Given the description of an element on the screen output the (x, y) to click on. 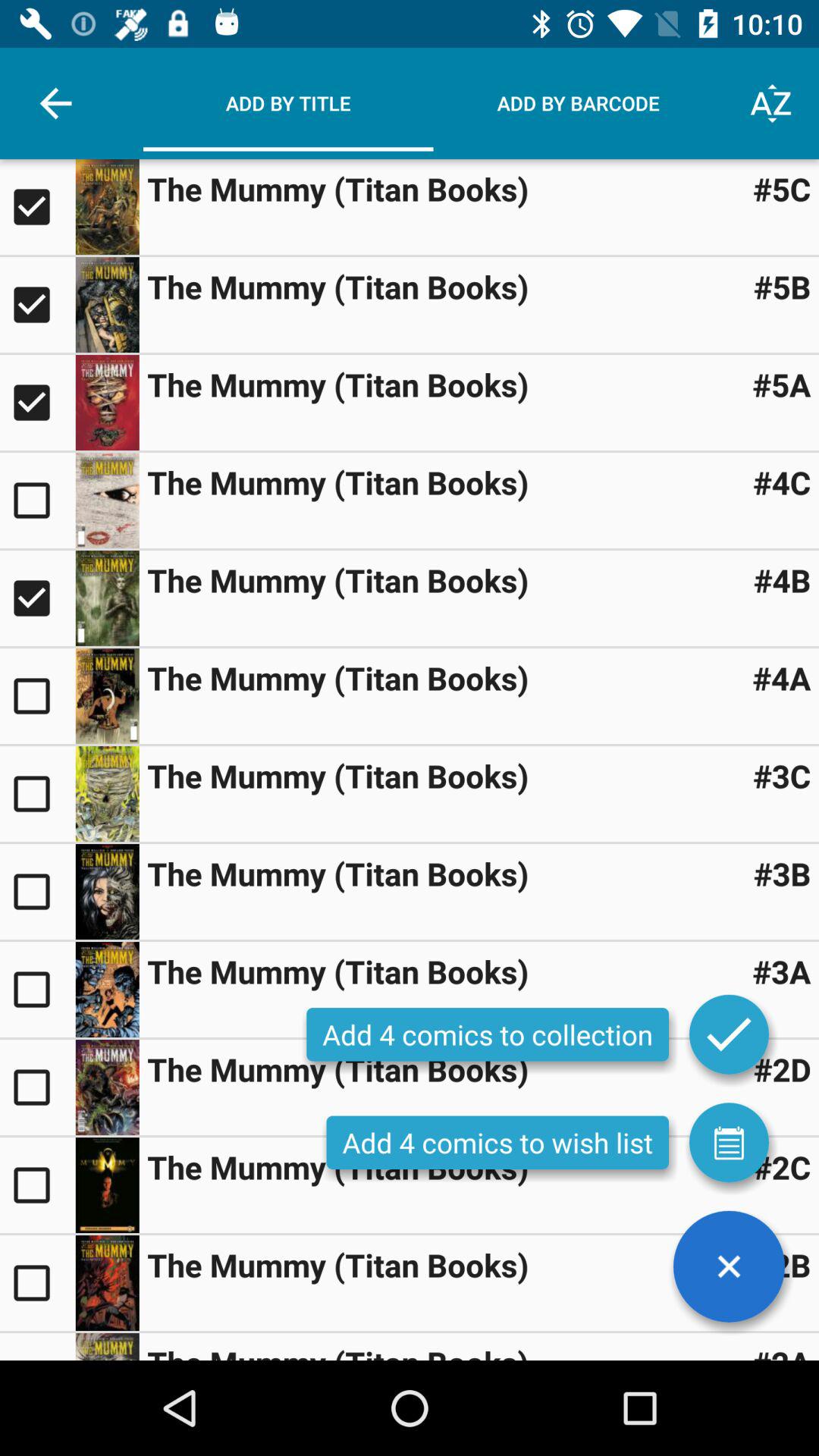
turn off item to the right of the mummy titan (782, 873)
